Given the description of an element on the screen output the (x, y) to click on. 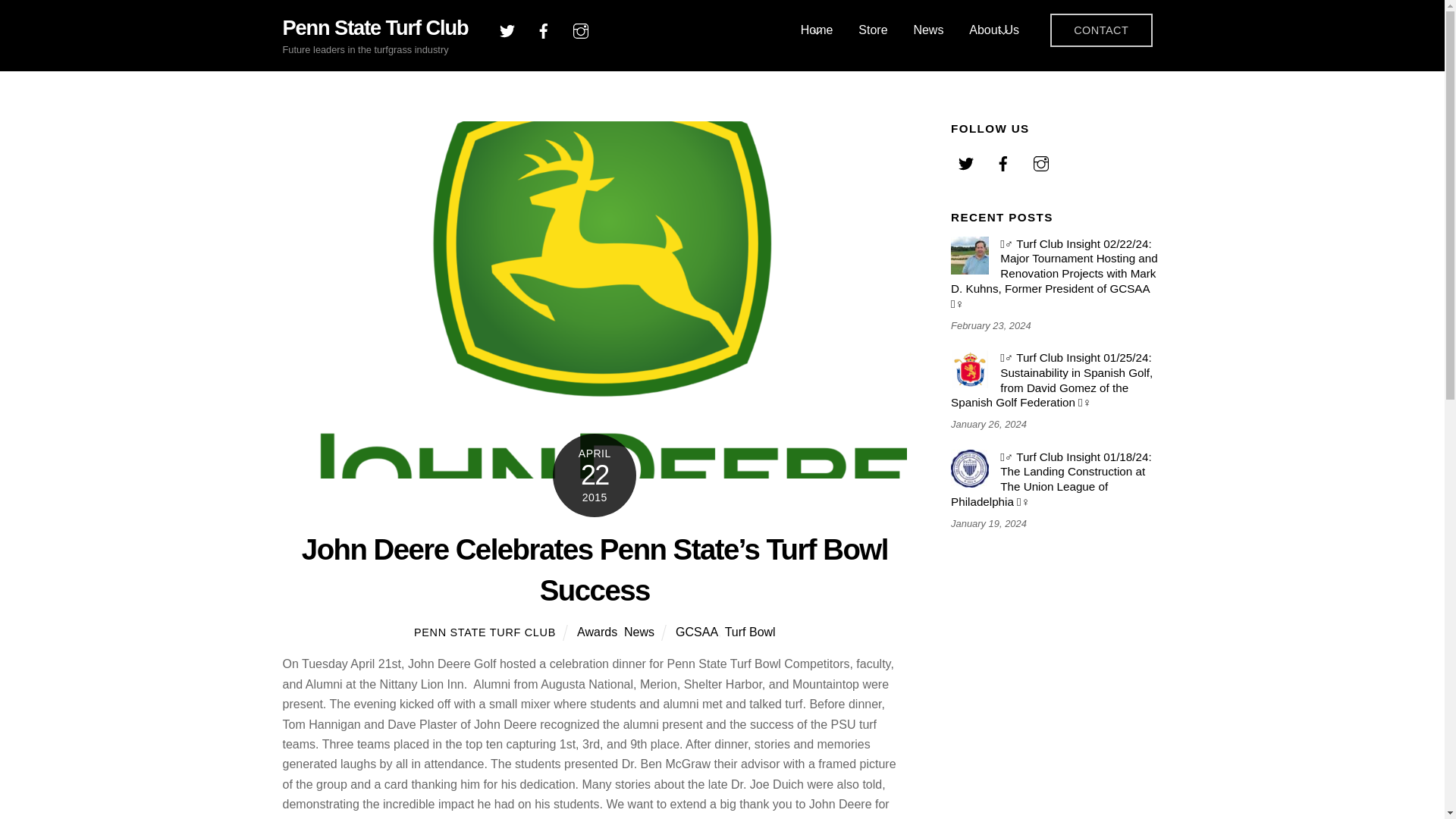
CONTACT (721, 30)
images uLP (1101, 29)
Penn State Turf Club (969, 468)
News (374, 27)
Home (638, 631)
Awards (816, 30)
Turf Bowl (596, 631)
PENN STATE TURF CLUB (750, 631)
Penn State Turf Club (484, 632)
